Given the description of an element on the screen output the (x, y) to click on. 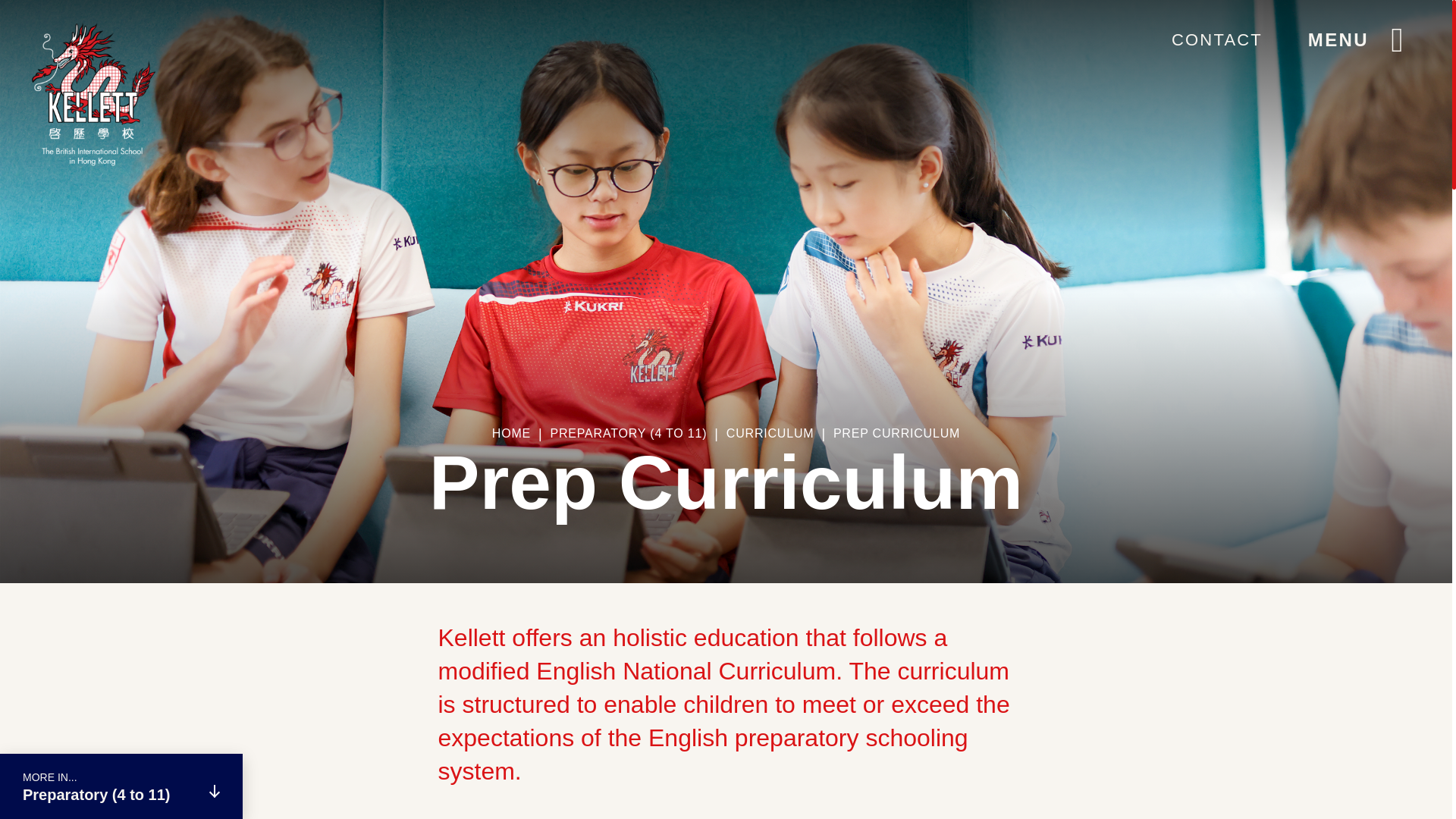
Menu (1360, 39)
MENU (1360, 39)
CONTACT (1217, 39)
Contact (1217, 39)
